Given the description of an element on the screen output the (x, y) to click on. 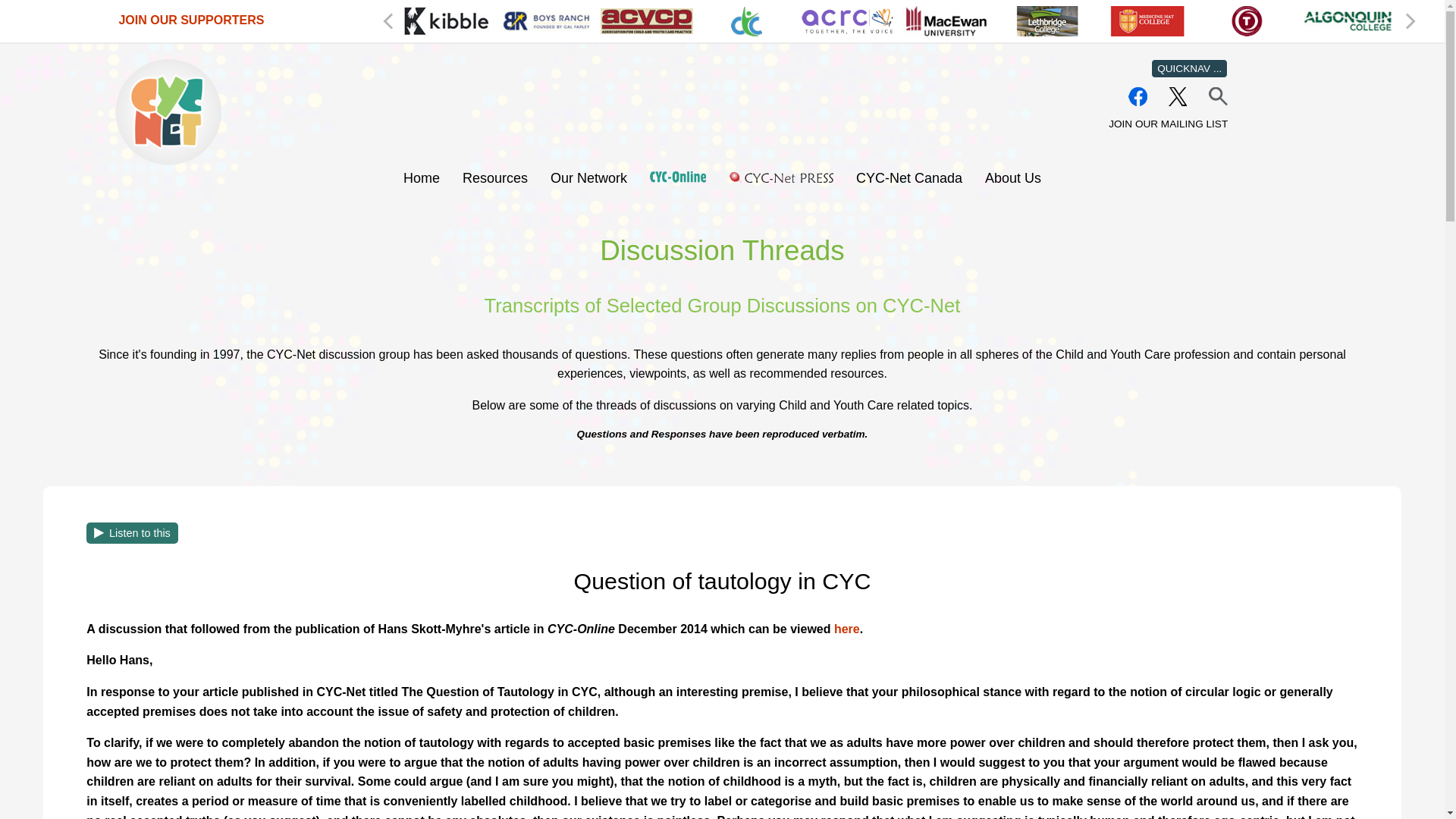
JOIN OUR SUPPORTERS (190, 19)
